Given the description of an element on the screen output the (x, y) to click on. 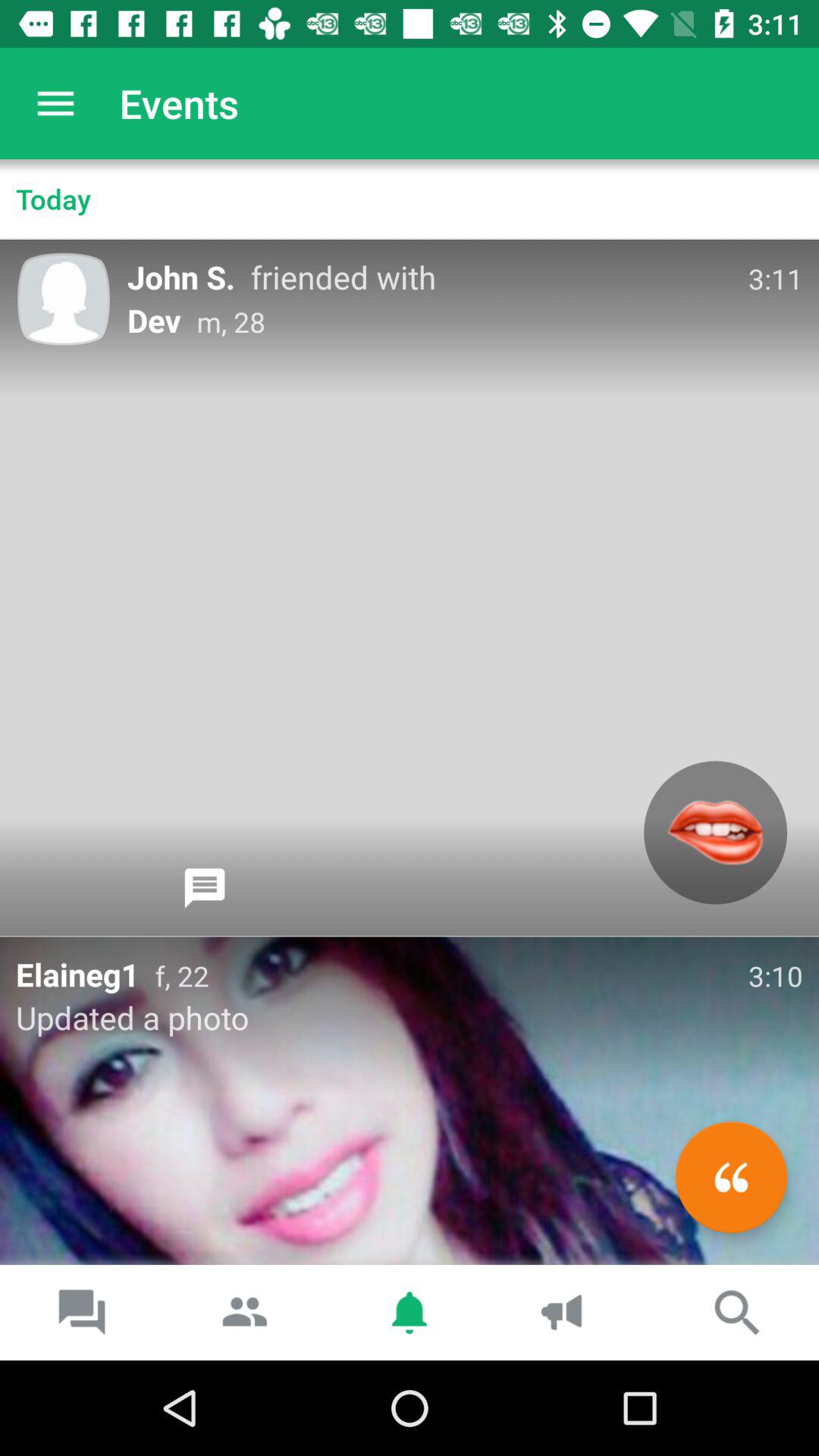
start chat (204, 888)
